Given the description of an element on the screen output the (x, y) to click on. 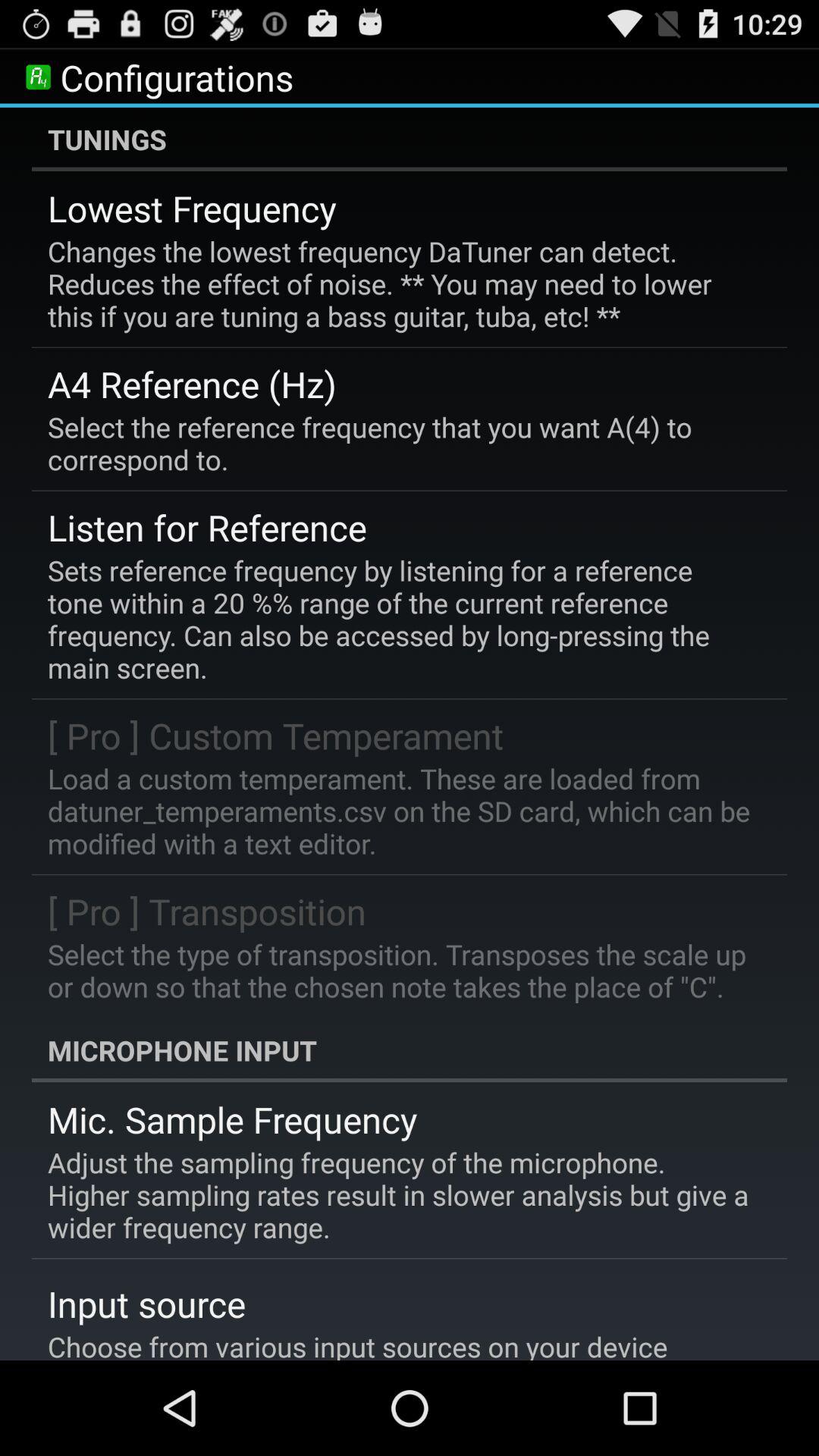
jump to adjust the sampling item (399, 1194)
